Given the description of an element on the screen output the (x, y) to click on. 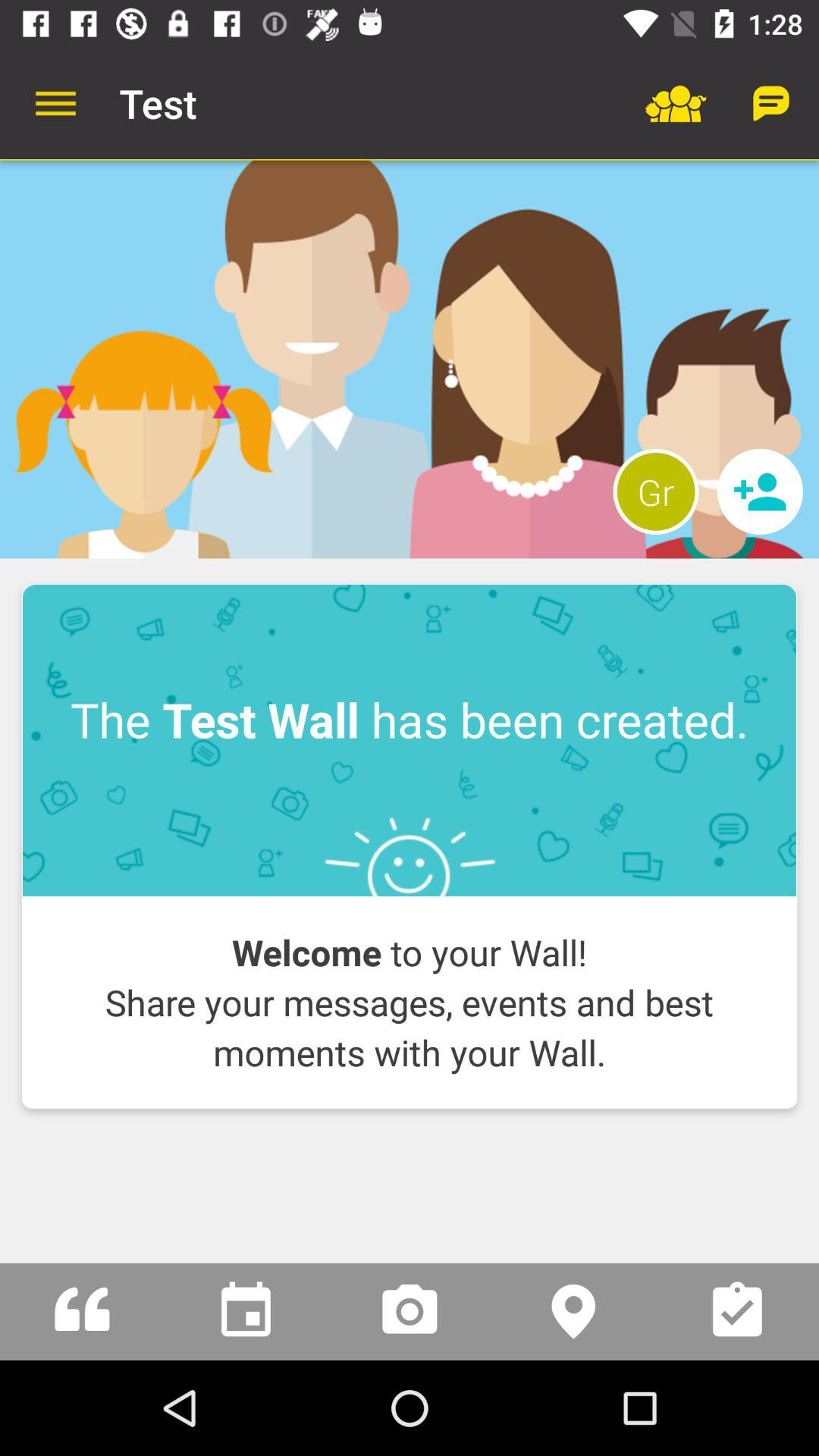
swipe to welcome to your icon (409, 1002)
